Given the description of an element on the screen output the (x, y) to click on. 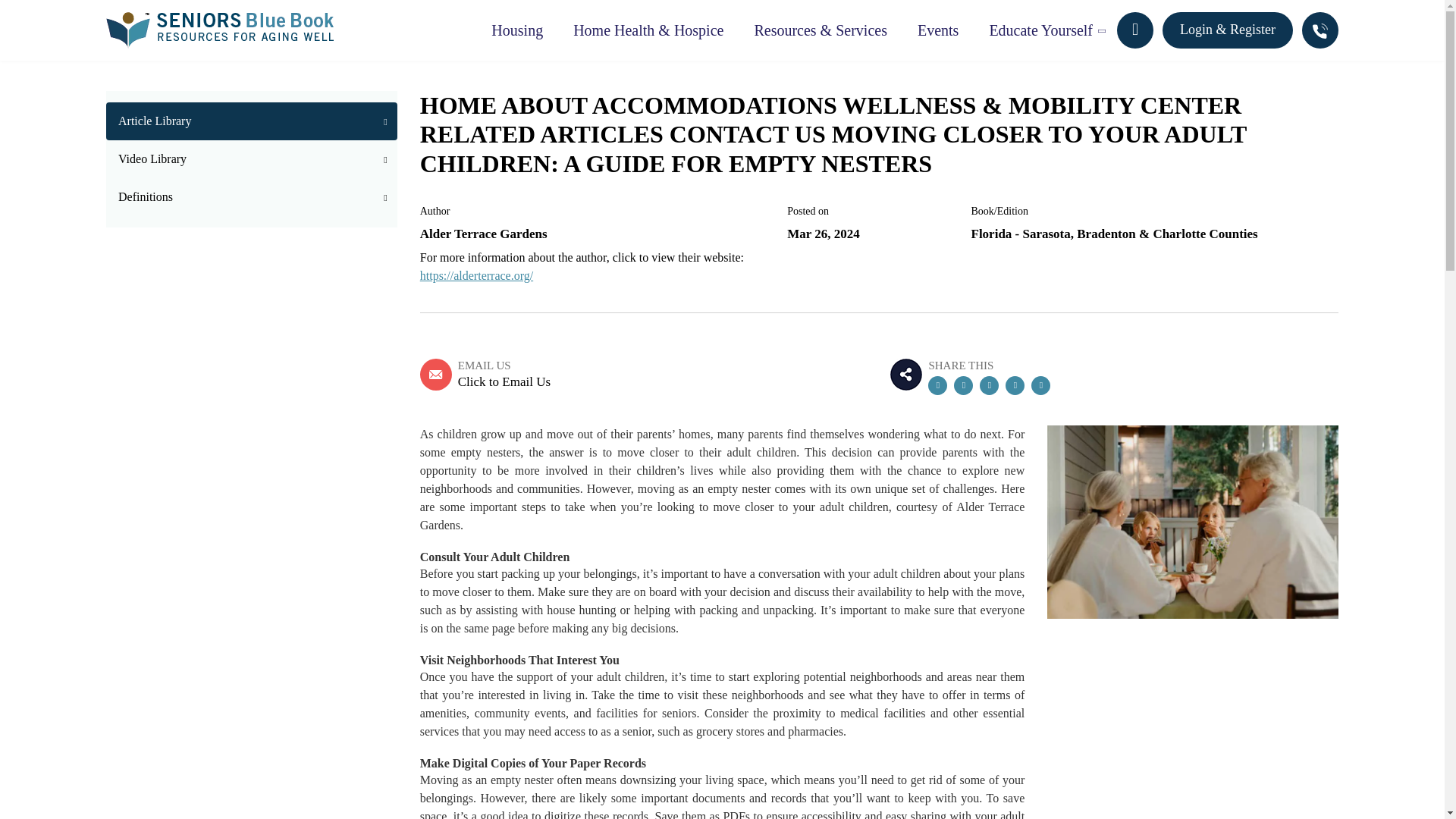
Housing (516, 29)
Video Library (251, 159)
Click to Email Us (504, 382)
Share by Email (1015, 384)
Educate Yourself (1041, 29)
Definitions (251, 197)
Events (938, 29)
Article Library (251, 121)
